Given the description of an element on the screen output the (x, y) to click on. 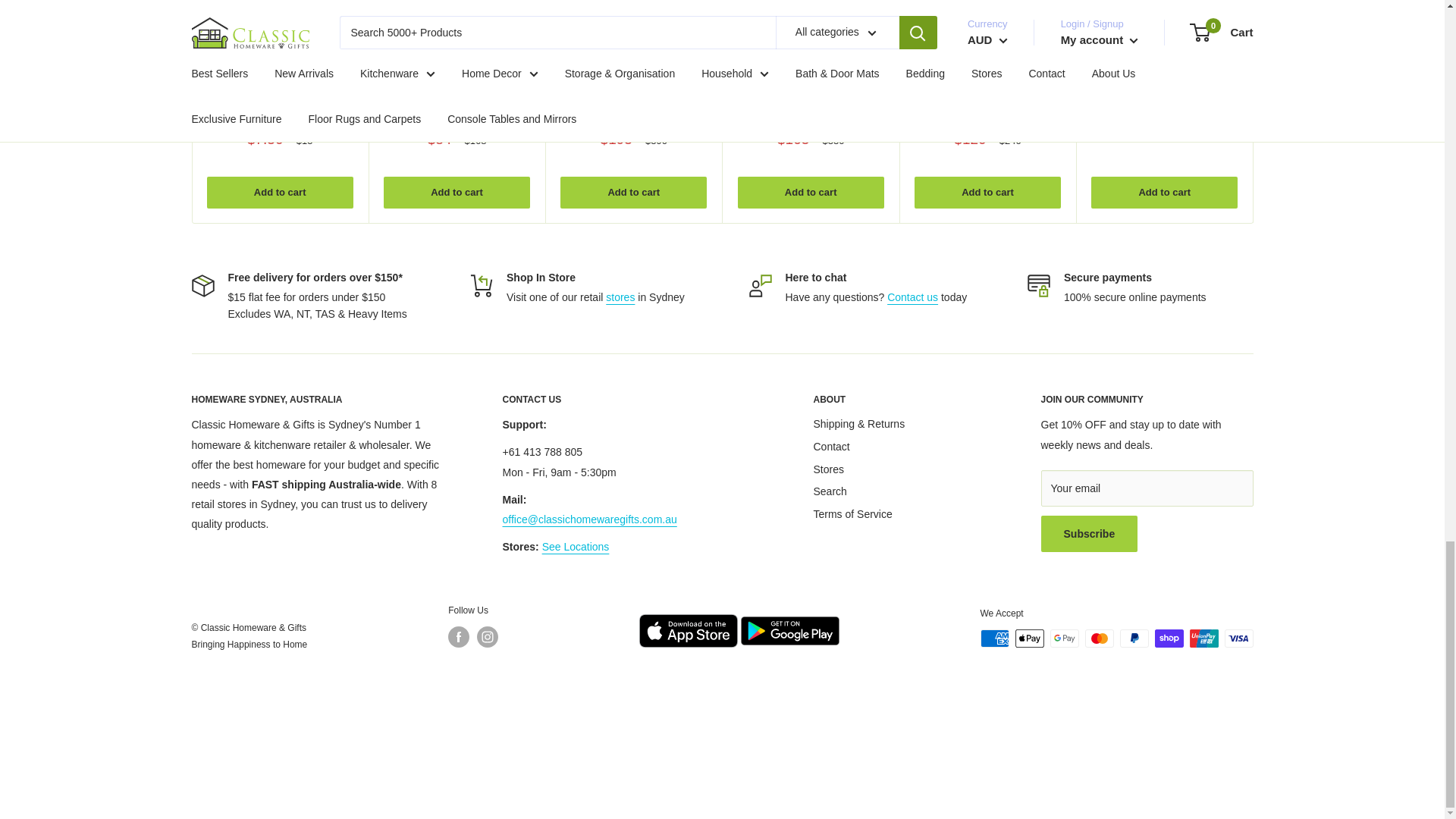
Stores (619, 297)
Contact (911, 297)
Stores (575, 546)
